Given the description of an element on the screen output the (x, y) to click on. 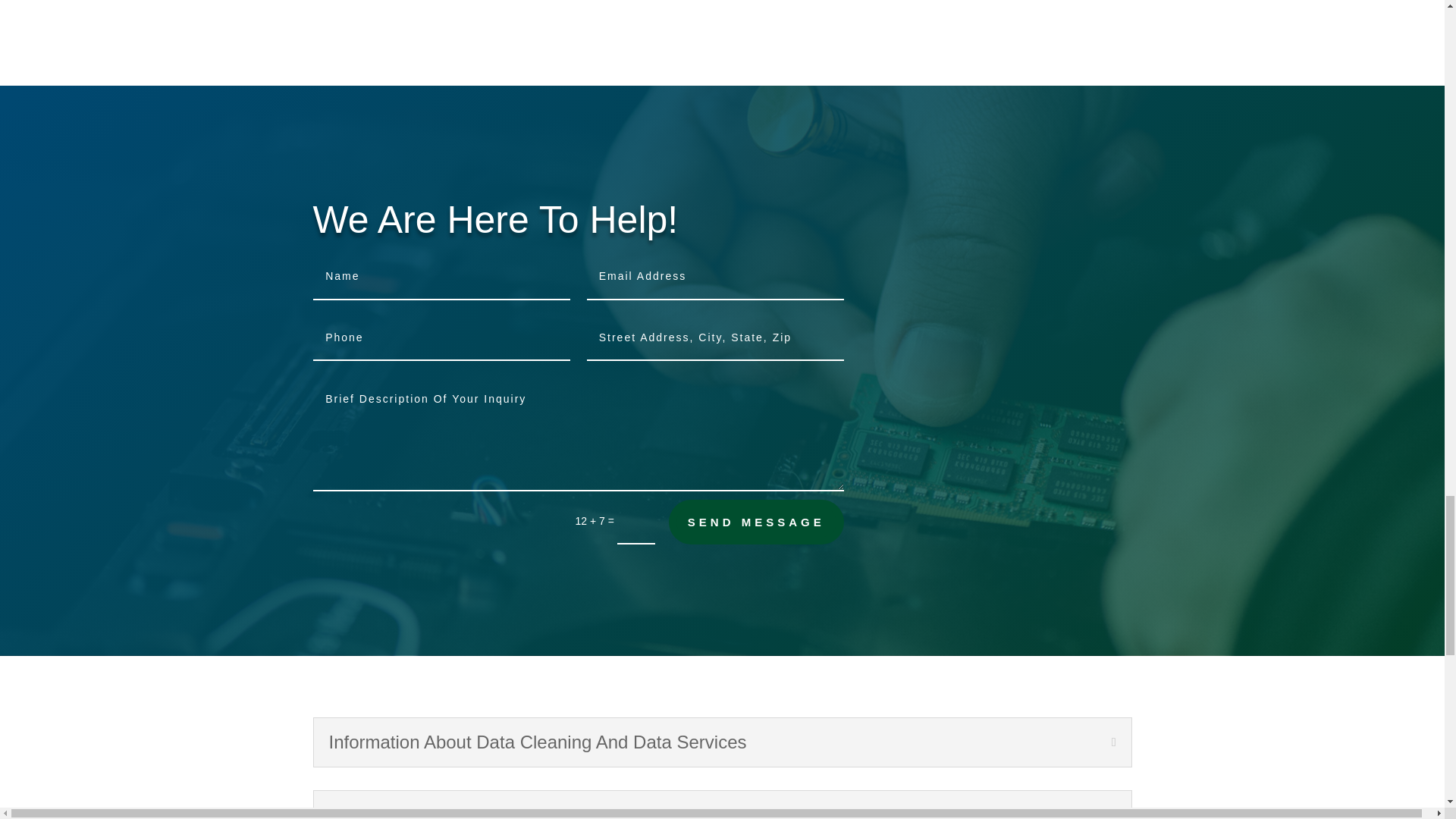
Maximum length: 50 characters. (715, 276)
SEND MESSAGE (756, 521)
